Given the description of an element on the screen output the (x, y) to click on. 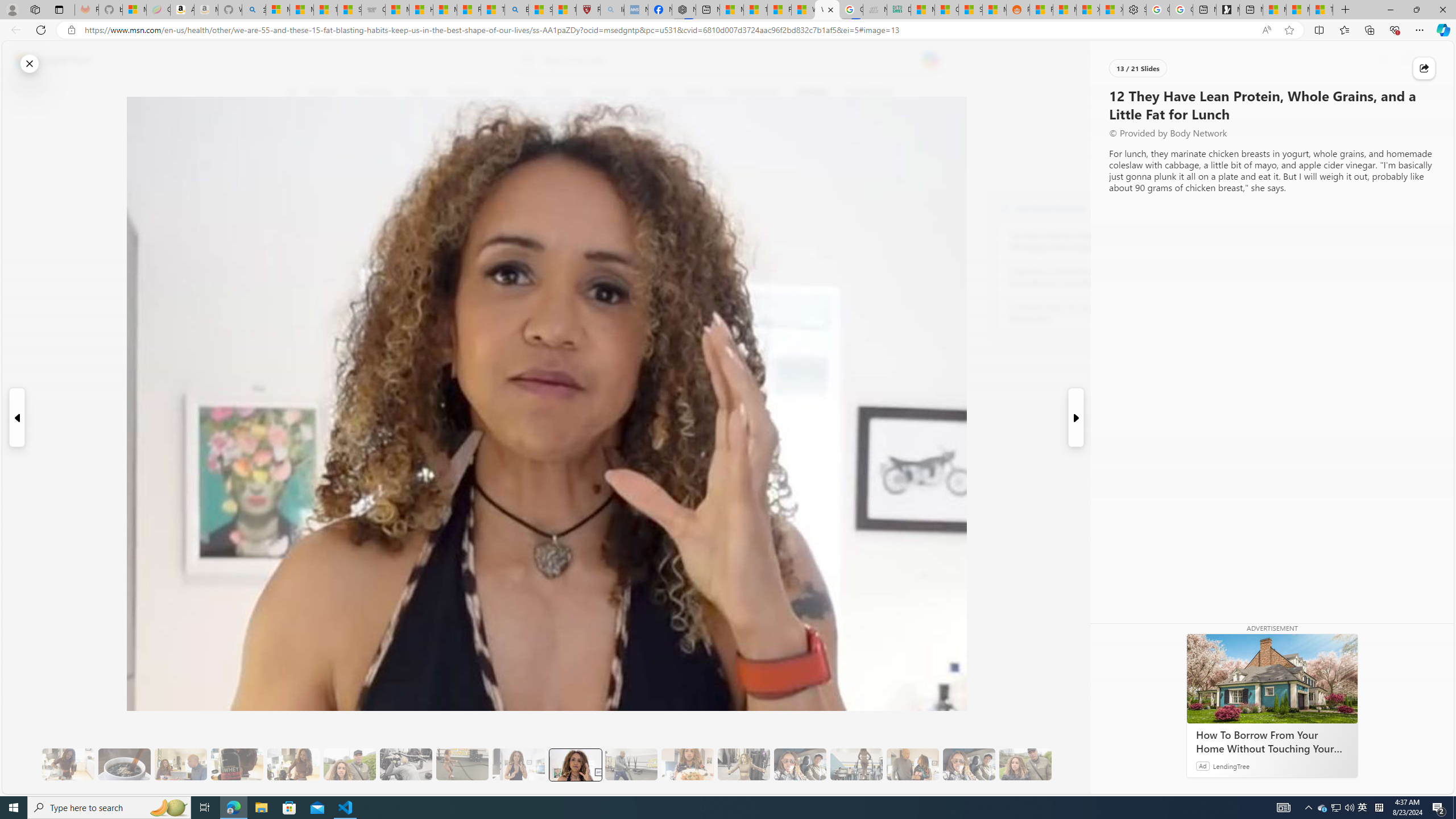
Start the conversation (299, 202)
MSNBC - MSN (922, 9)
20 Overall, It Will Improve Your Health (1024, 764)
Next Slide (1076, 417)
Dislike (299, 170)
Navy Quest (874, 9)
14 They Have Salmon and Veggies for Dinner (687, 764)
Local (517, 92)
Technology (608, 92)
8 They Walk to the Gym (349, 764)
Share this story (1423, 67)
Microsoft-Report a Concern to Bing (134, 9)
